Given the description of an element on the screen output the (x, y) to click on. 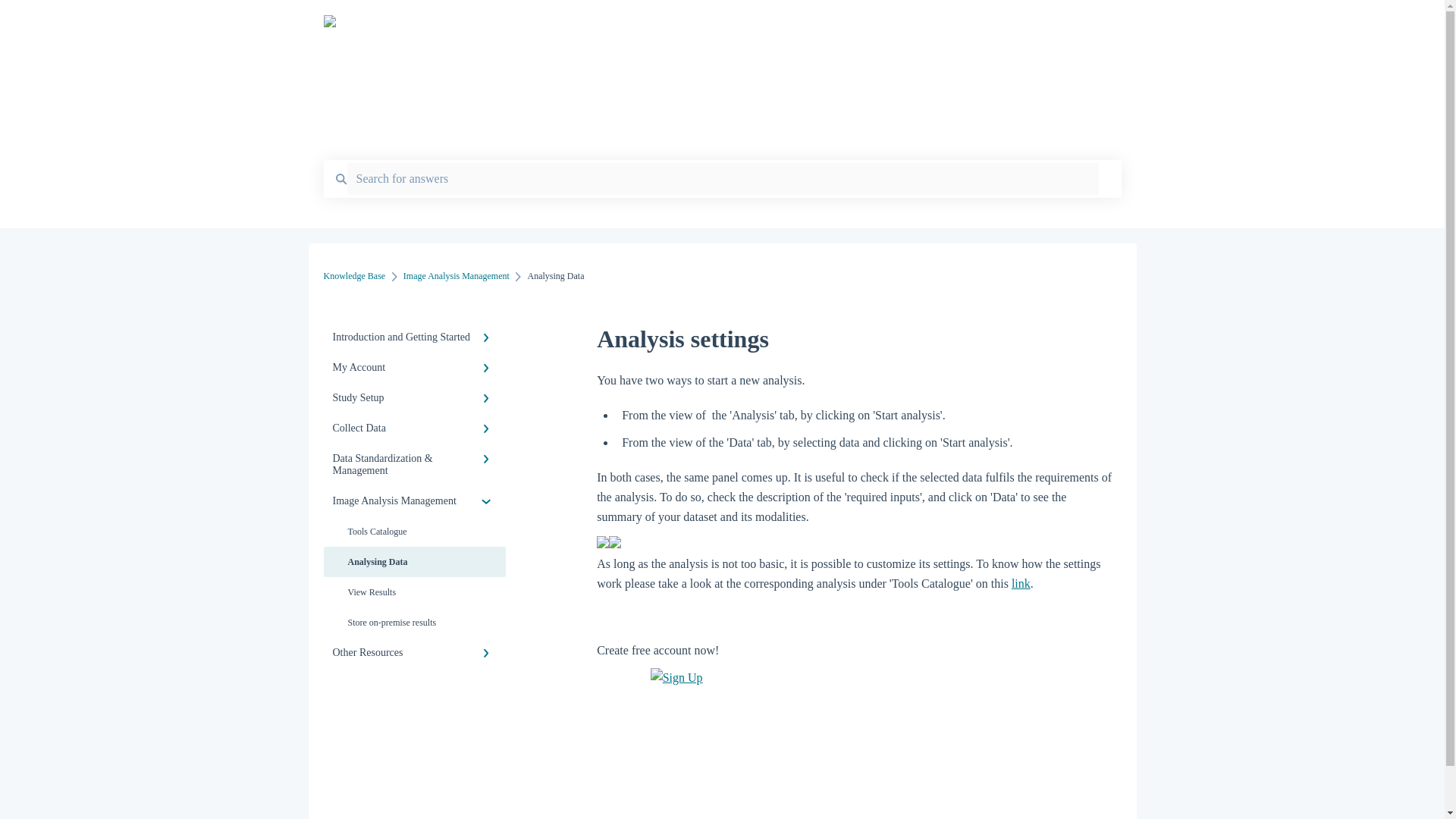
Knowledge Base (654, 21)
Image Analysis Management (456, 276)
Raise an Issue (1078, 25)
www.qmenta.com (981, 25)
Knowledge Base (354, 276)
